Given the description of an element on the screen output the (x, y) to click on. 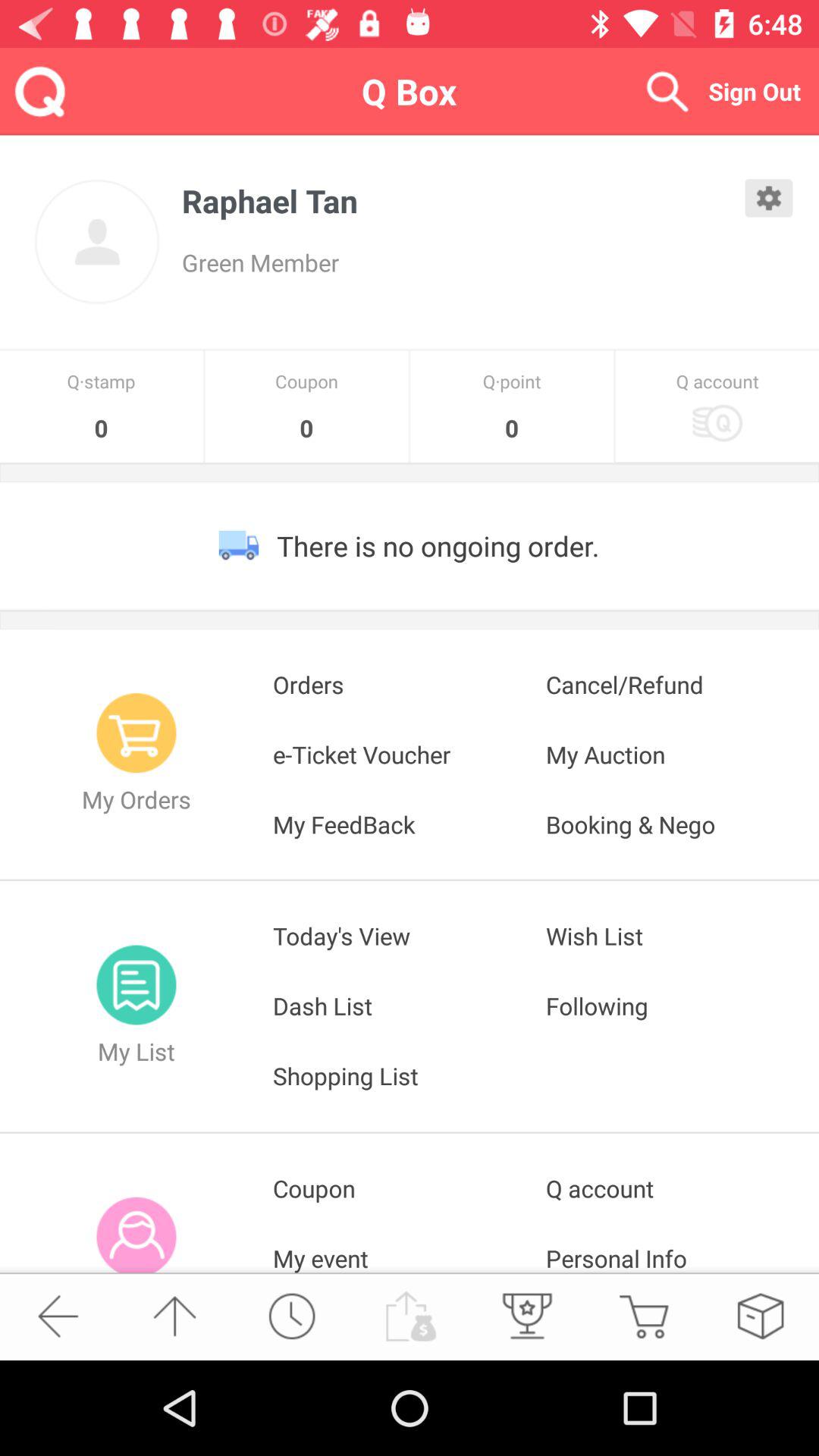
go top (174, 1316)
